Given the description of an element on the screen output the (x, y) to click on. 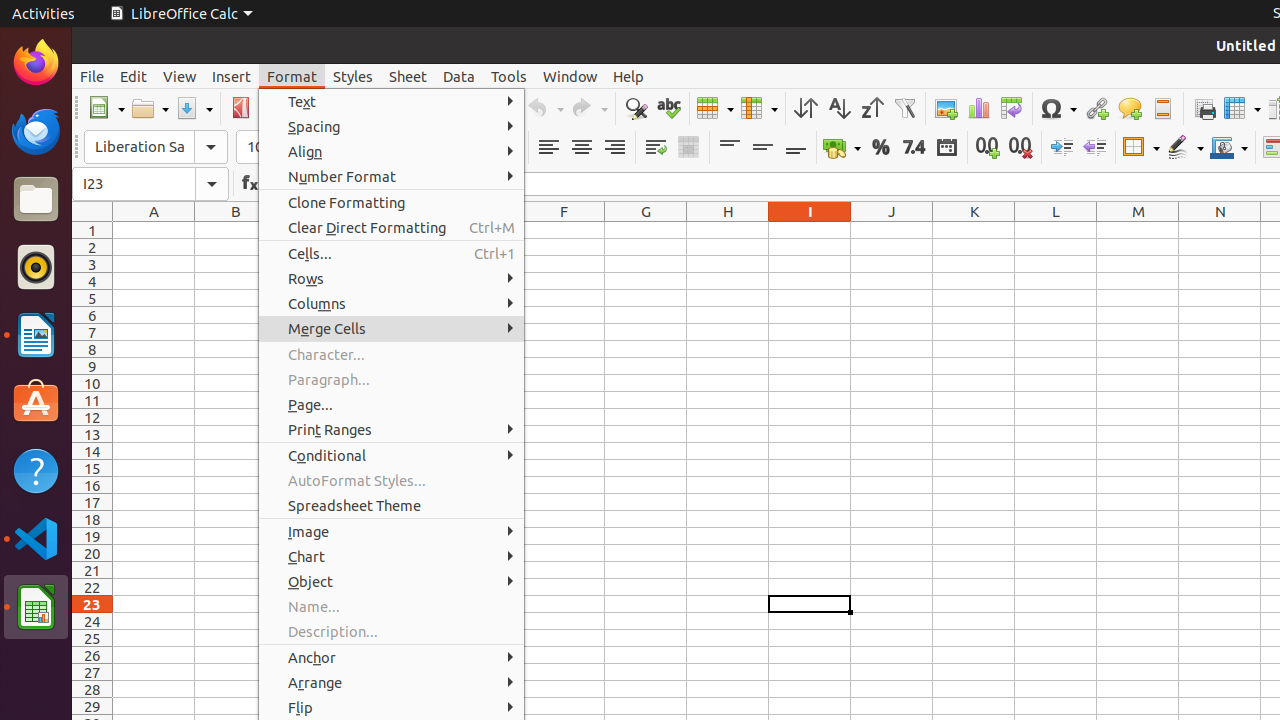
Spelling Element type: push-button (668, 108)
Comment Element type: push-button (1129, 108)
Align Left Element type: push-button (548, 147)
Data Element type: menu (459, 76)
Spreadsheet Theme Element type: menu-item (391, 505)
